Given the description of an element on the screen output the (x, y) to click on. 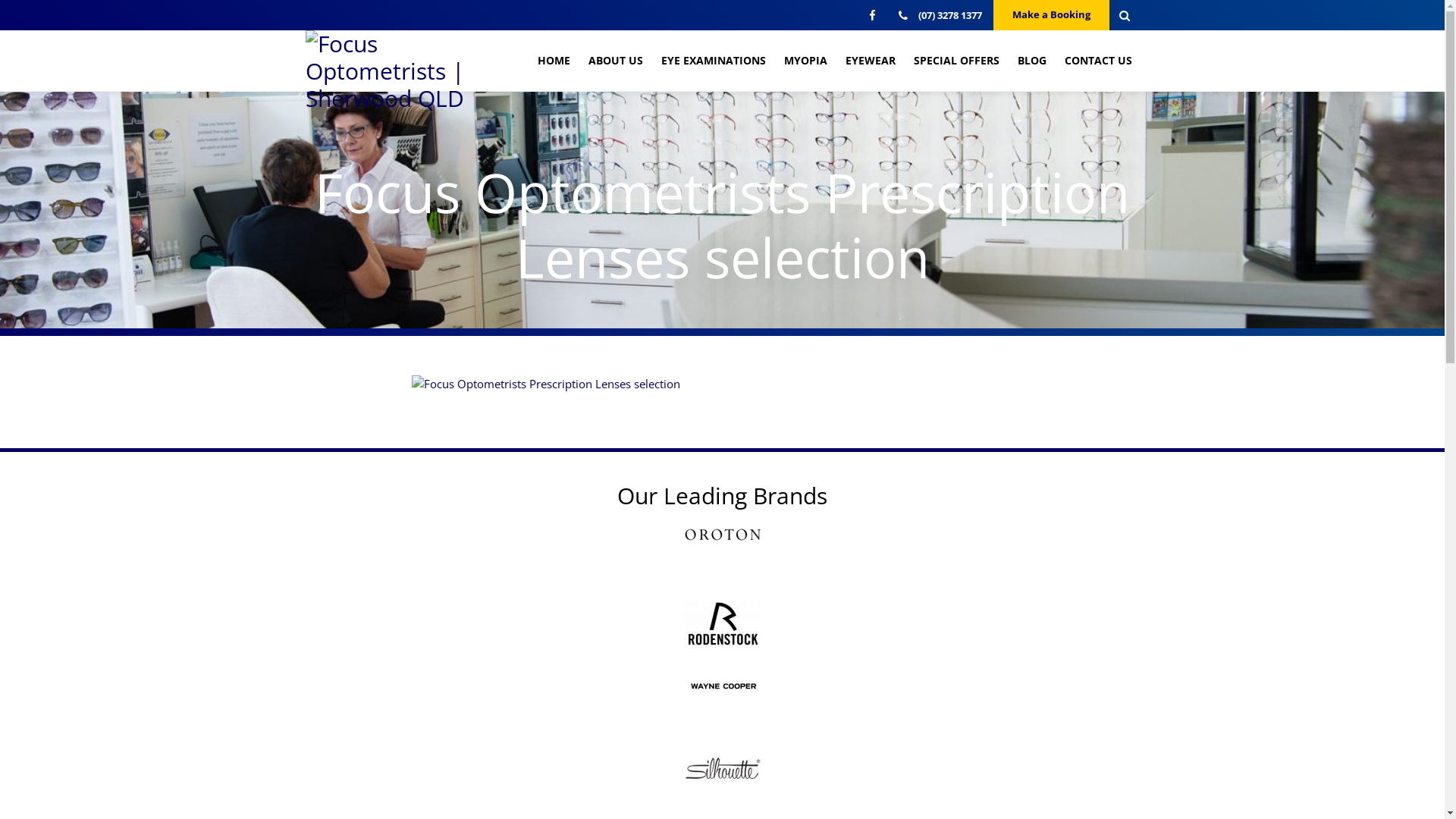
SPECIAL OFFERS Element type: text (955, 60)
EYE EXAMINATIONS Element type: text (713, 60)
MYOPIA Element type: text (805, 60)
EYEWEAR Element type: text (869, 60)
BLOG Element type: text (1032, 60)
Make a Booking Element type: text (1051, 15)
(07) 3278 1377 Element type: text (939, 15)
ABOUT US Element type: text (615, 60)
CONTACT US Element type: text (1098, 60)
HOME Element type: text (553, 60)
